Given the description of an element on the screen output the (x, y) to click on. 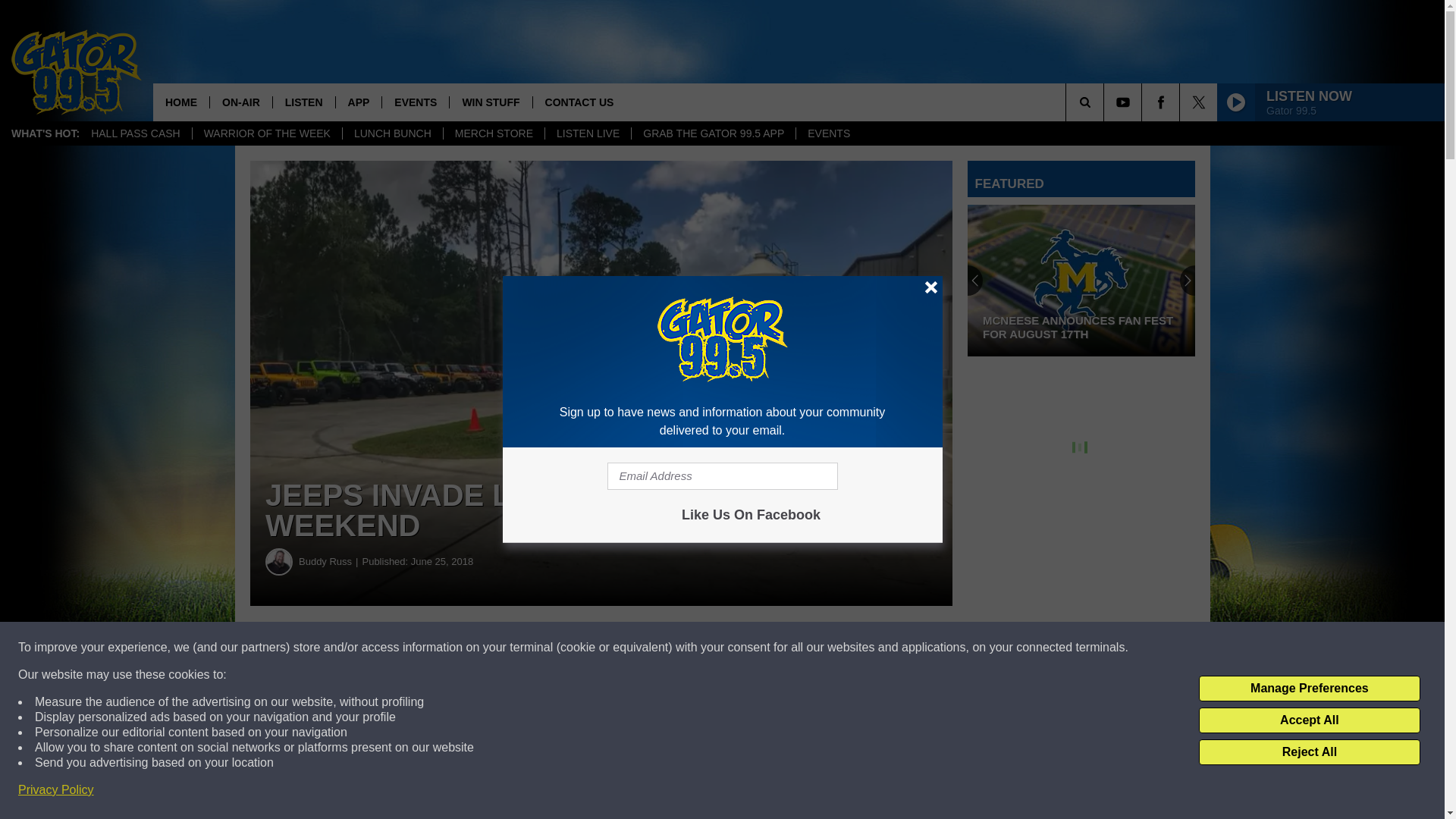
EVENTS (414, 102)
WARRIOR OF THE WEEK (267, 133)
LISTEN LIVE (587, 133)
MERCH STORE (493, 133)
APP (357, 102)
Privacy Policy (55, 789)
LISTEN (303, 102)
HOME (180, 102)
WIN STUFF (489, 102)
Accept All (1309, 720)
GRAB THE GATOR 99.5 APP (712, 133)
EVENTS (827, 133)
SEARCH (1106, 102)
Manage Preferences (1309, 688)
Reject All (1309, 751)
